Given the description of an element on the screen output the (x, y) to click on. 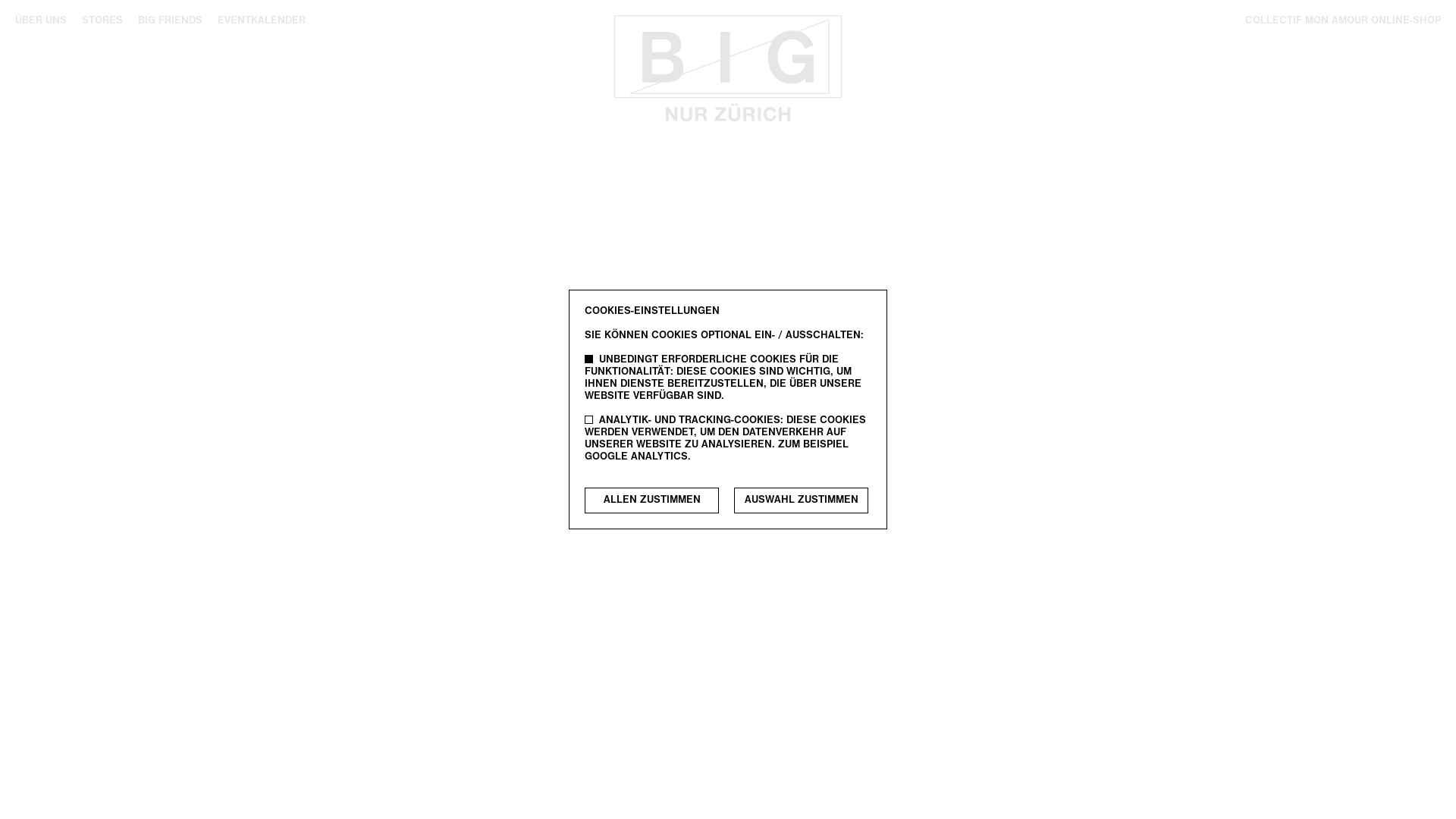
COLLECTIF MON AMOUR ONLINE-SHOP Element type: text (1342, 20)
CONTACT Element type: text (611, 325)
JOBS Element type: text (670, 325)
STORES Element type: text (101, 20)
EVENTKALENDER Element type: text (261, 20)
ALLEN ZUSTIMMEN Element type: text (651, 500)
PRIVACY POLICY Element type: text (827, 325)
IMPRESSUM Element type: text (735, 325)
ZUM NEWSLETTER ANMELDEN Element type: text (727, 301)
BIG FRIENDS Element type: text (170, 20)
AUSWAHL ZUSTIMMEN Element type: text (801, 500)
